Given the description of an element on the screen output the (x, y) to click on. 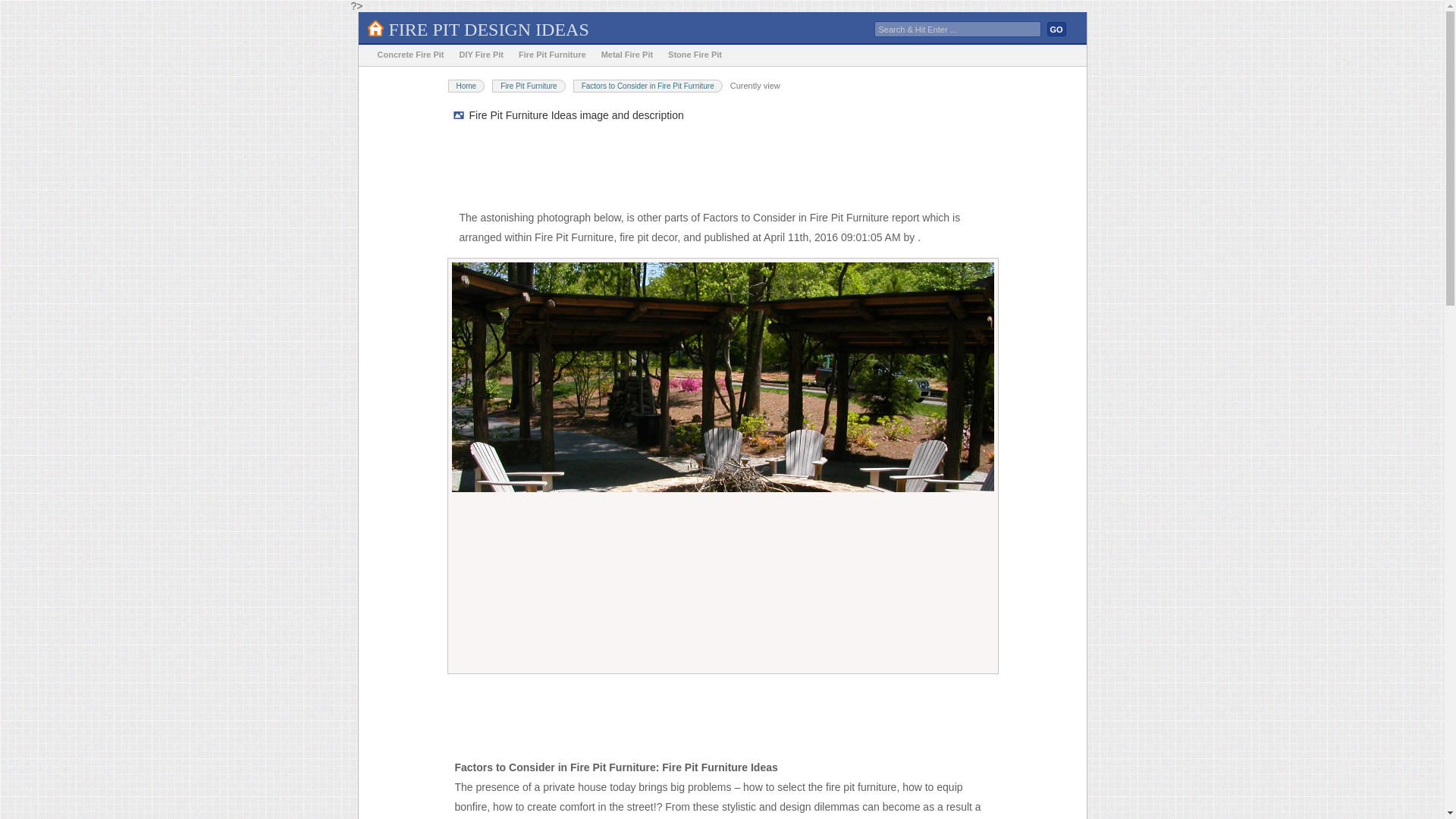
Fire Pit Design Ideas (488, 29)
Fire Pit Furniture (528, 85)
Fire Pit Furniture (552, 54)
FIRE PIT DESIGN IDEAS (488, 29)
Concrete Fire Pit (410, 54)
Home (465, 85)
Factors to Consider in Fire Pit Furniture (647, 85)
GO (1055, 29)
DIY Fire Pit (481, 54)
Stone Fire Pit (695, 54)
